Given the description of an element on the screen output the (x, y) to click on. 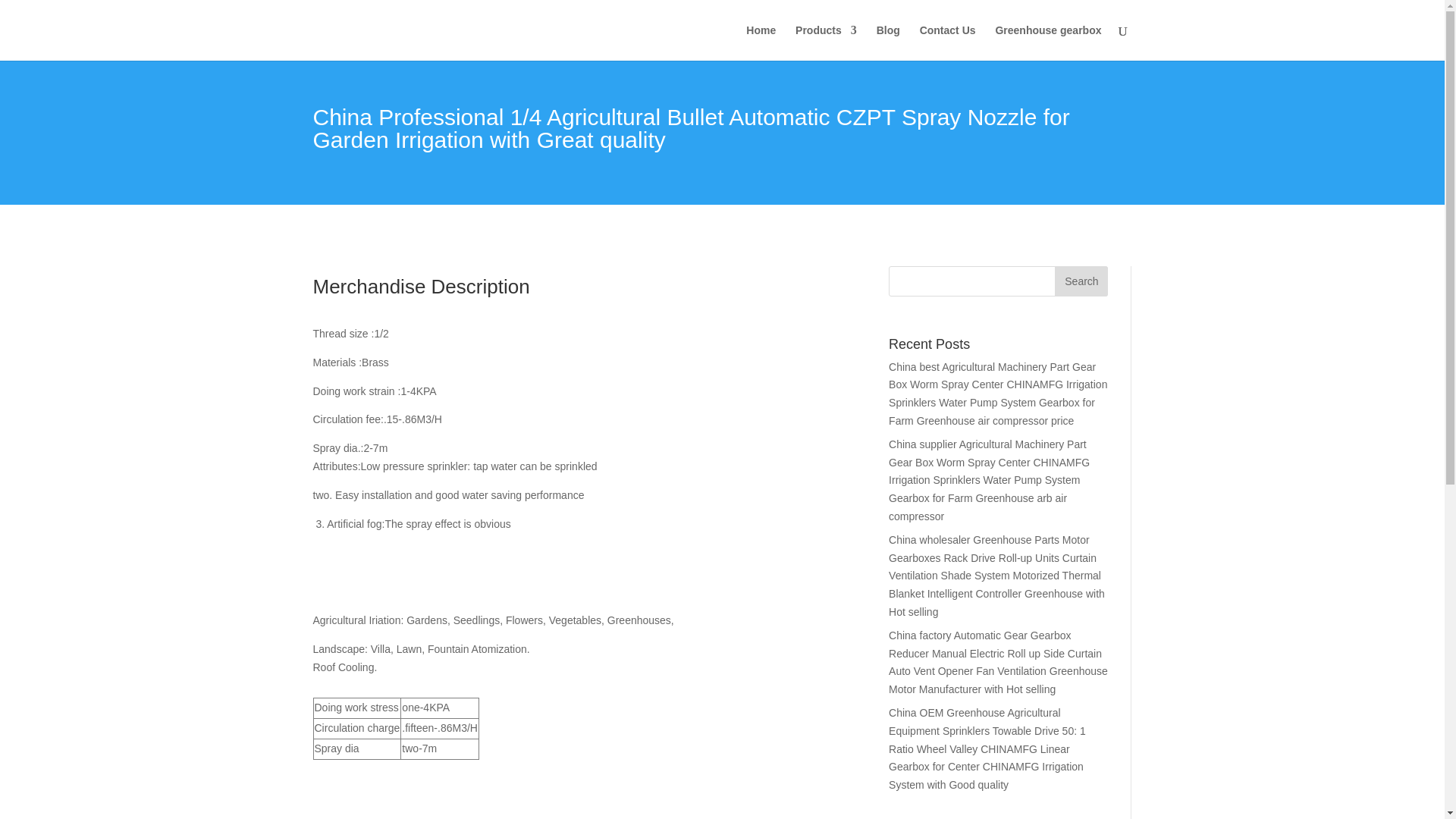
Search (1081, 281)
Contact Us (947, 42)
Products (825, 42)
Greenhouse gearbox (1047, 42)
Search (1081, 281)
